Given the description of an element on the screen output the (x, y) to click on. 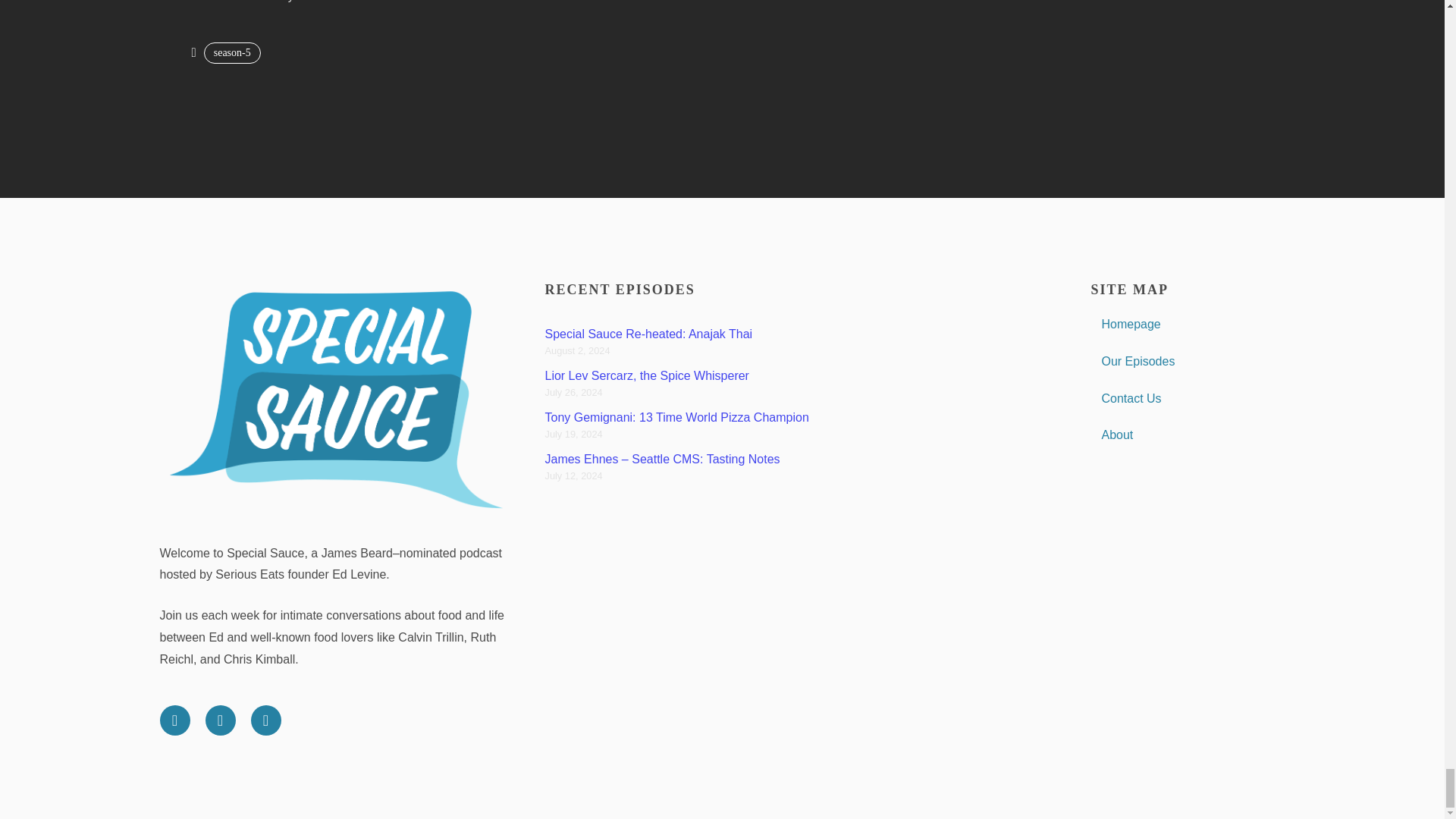
Lior Lev Sercarz, the Spice Whisperer (646, 375)
season-5 (231, 52)
Special Sauce Re-heated: Anajak Thai (648, 333)
Tony Gemignani: 13 Time World Pizza Champion (676, 417)
